Given the description of an element on the screen output the (x, y) to click on. 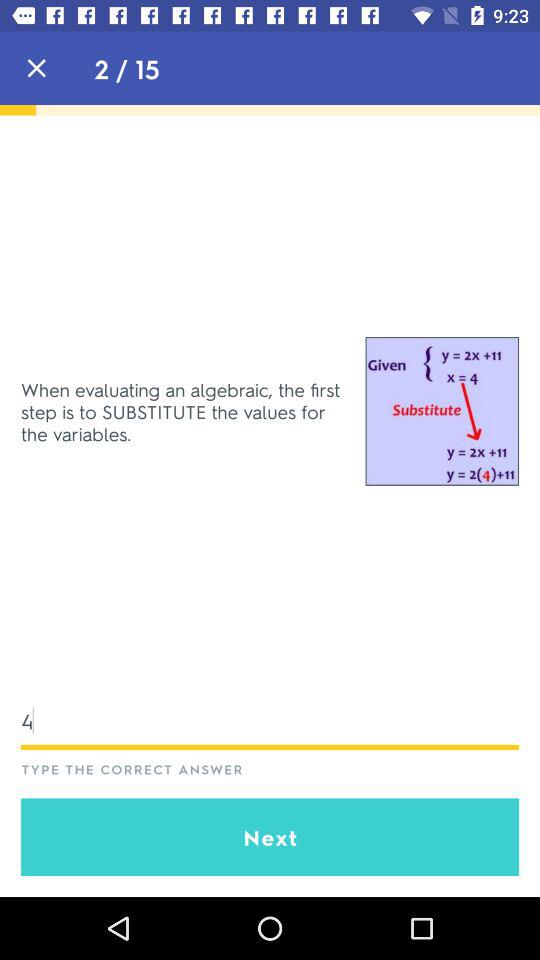
launch the icon to the left of 2 / 15 (36, 68)
